Given the description of an element on the screen output the (x, y) to click on. 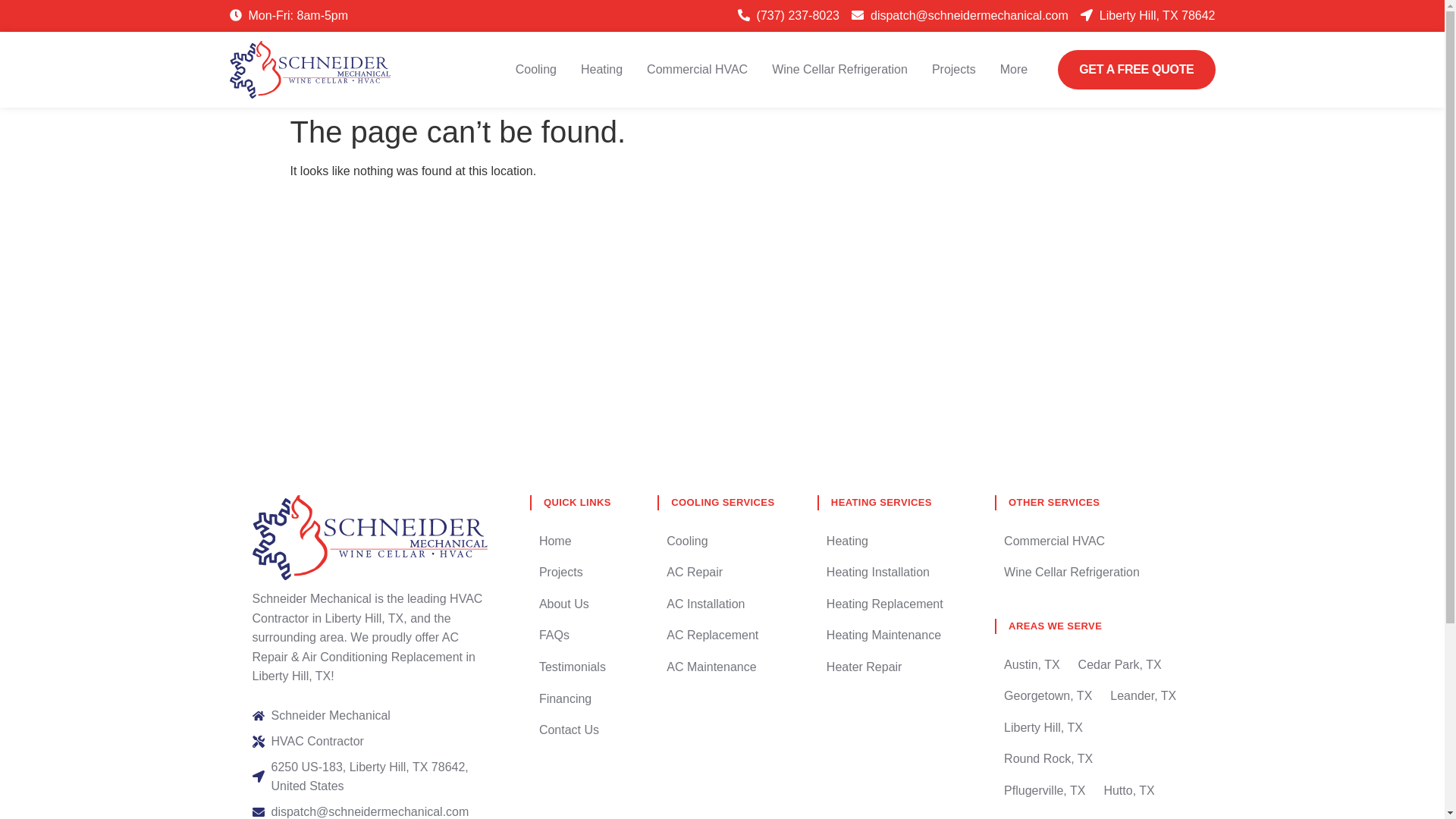
Heating (601, 69)
More (1013, 69)
Wine Cellar Refrigeration (839, 69)
Projects (953, 69)
Commercial HVAC (697, 69)
Cooling (535, 69)
Liberty Hill, TX 78642 (1147, 15)
GET A FREE QUOTE (1136, 69)
